Given the description of an element on the screen output the (x, y) to click on. 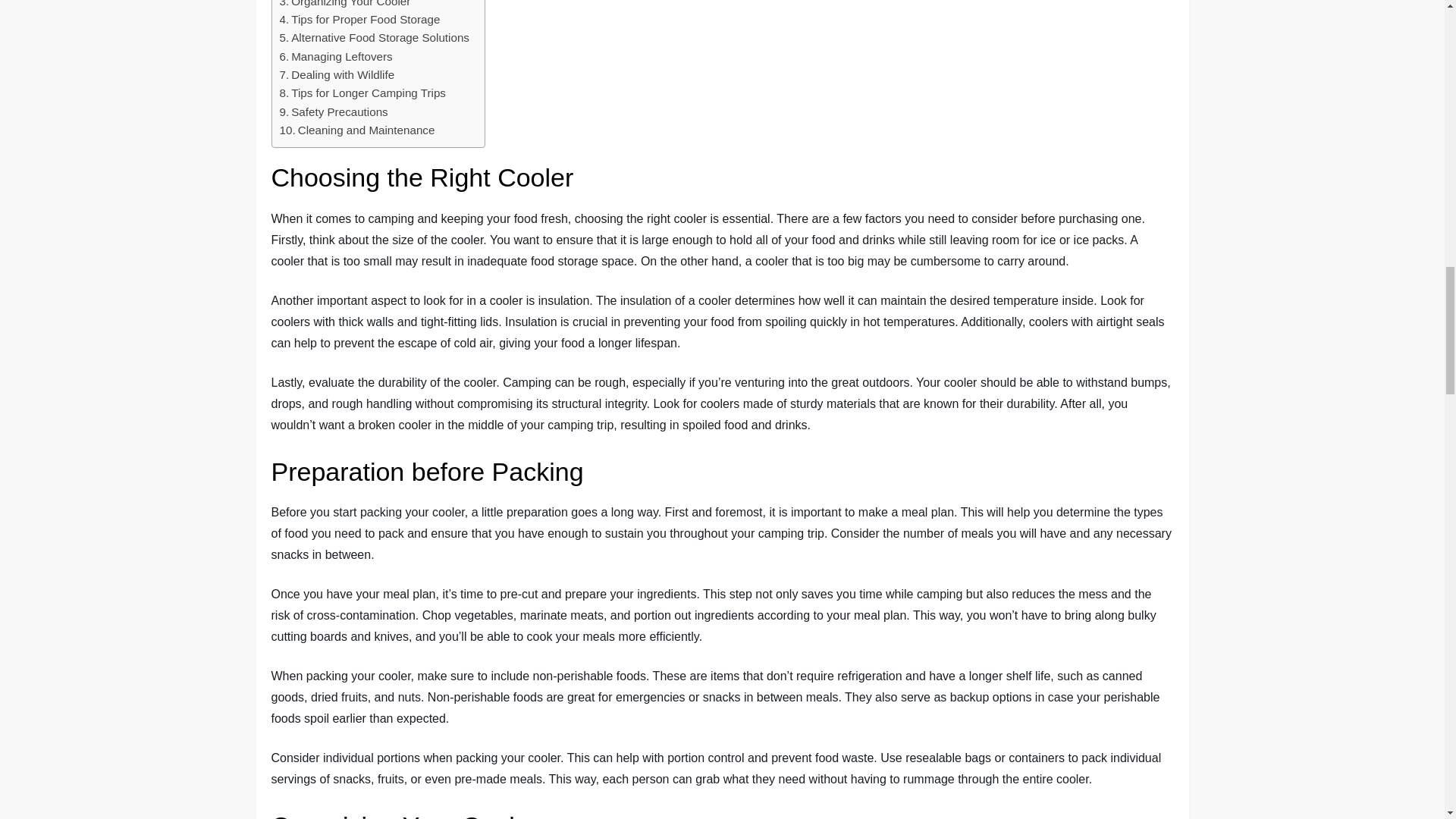
Tips for Longer Camping Trips (362, 93)
Dealing with Wildlife (336, 75)
Cleaning and Maintenance (356, 130)
Tips for Proper Food Storage (359, 19)
Safety Precautions (333, 112)
Tips for Longer Camping Trips (362, 93)
Dealing with Wildlife (336, 75)
Tips for Proper Food Storage (359, 19)
Organizing Your Cooler (344, 5)
Safety Precautions (333, 112)
